Given the description of an element on the screen output the (x, y) to click on. 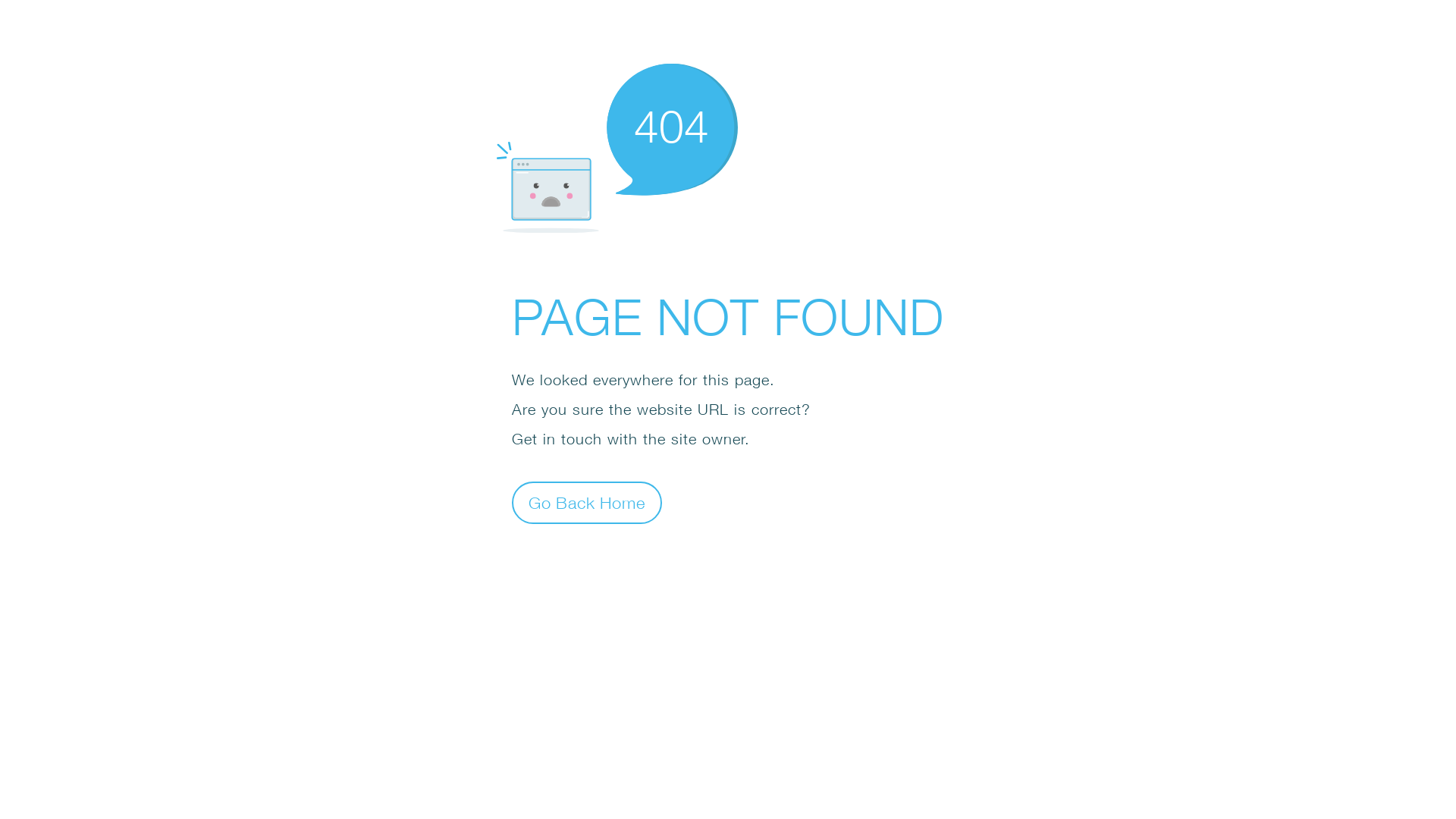
Go Back Home Element type: text (586, 502)
